Given the description of an element on the screen output the (x, y) to click on. 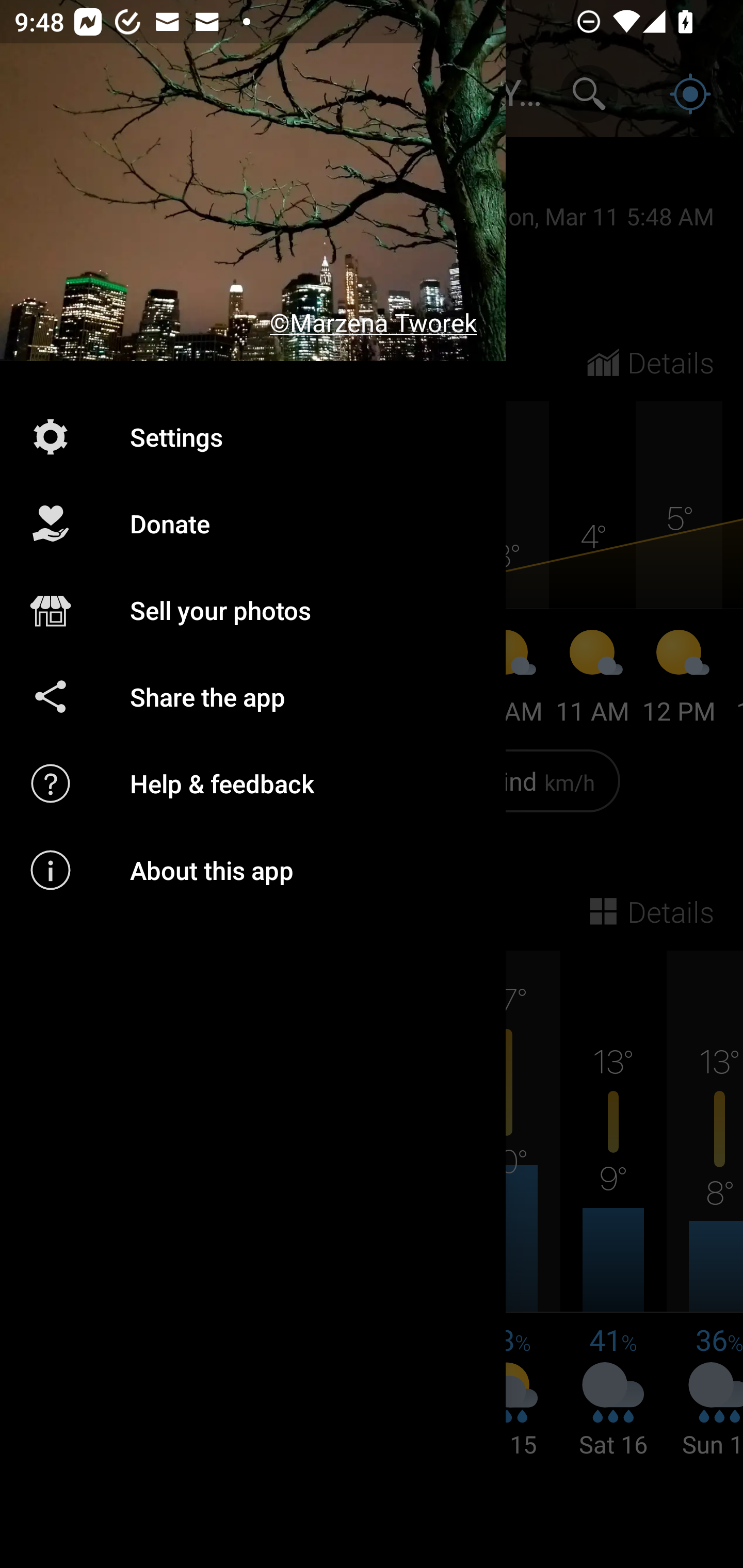
©Marzena Tworek (252, 180)
Settings (252, 436)
Donate (252, 523)
Sell your photos (252, 610)
Share the app (252, 696)
Help & feedback (252, 783)
About this app (252, 870)
